Given the description of an element on the screen output the (x, y) to click on. 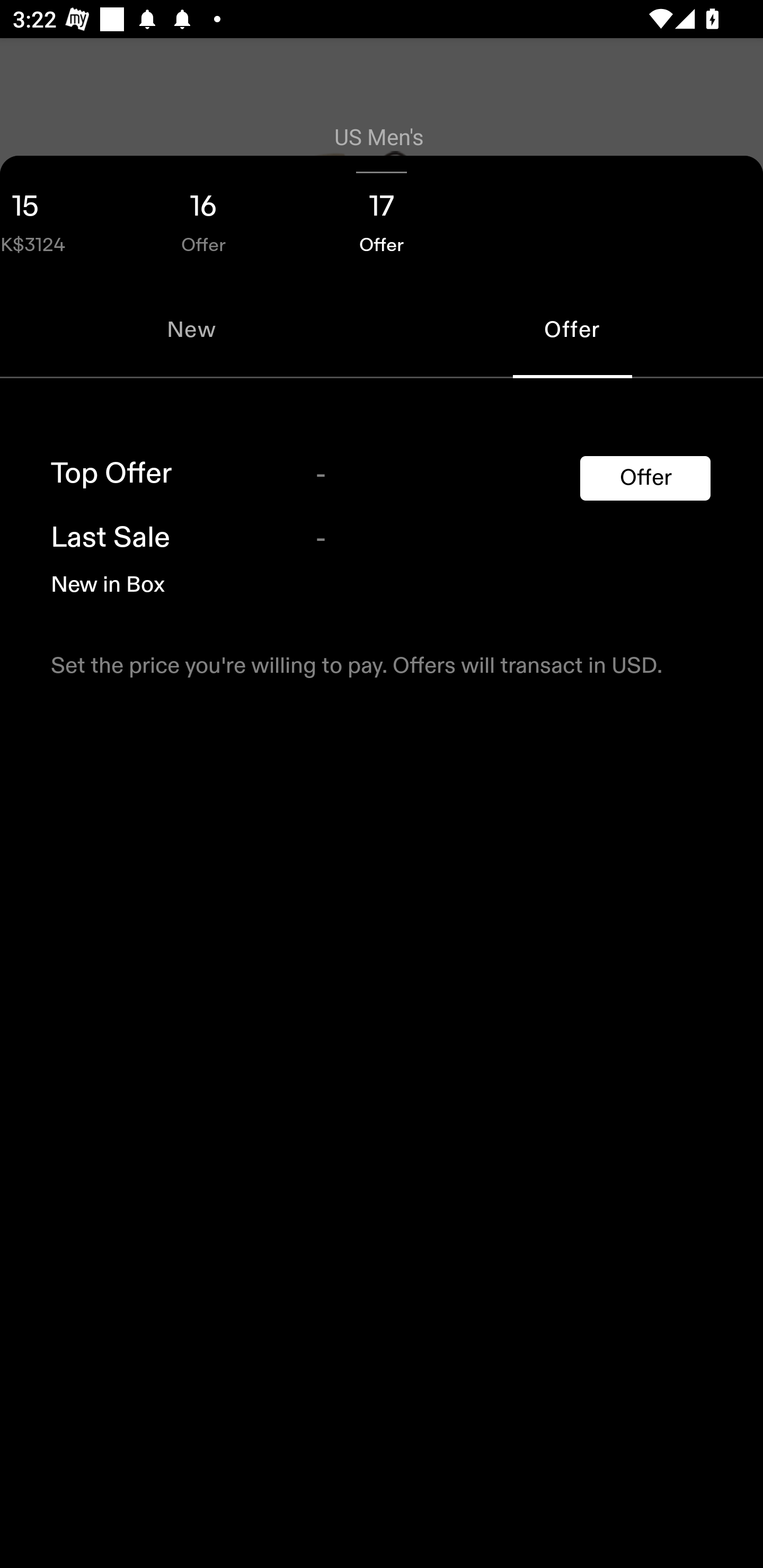
15 HK$3124 (57, 218)
16 Offer (203, 218)
17 Offer (381, 218)
New (190, 329)
Offer (644, 477)
